Given the description of an element on the screen output the (x, y) to click on. 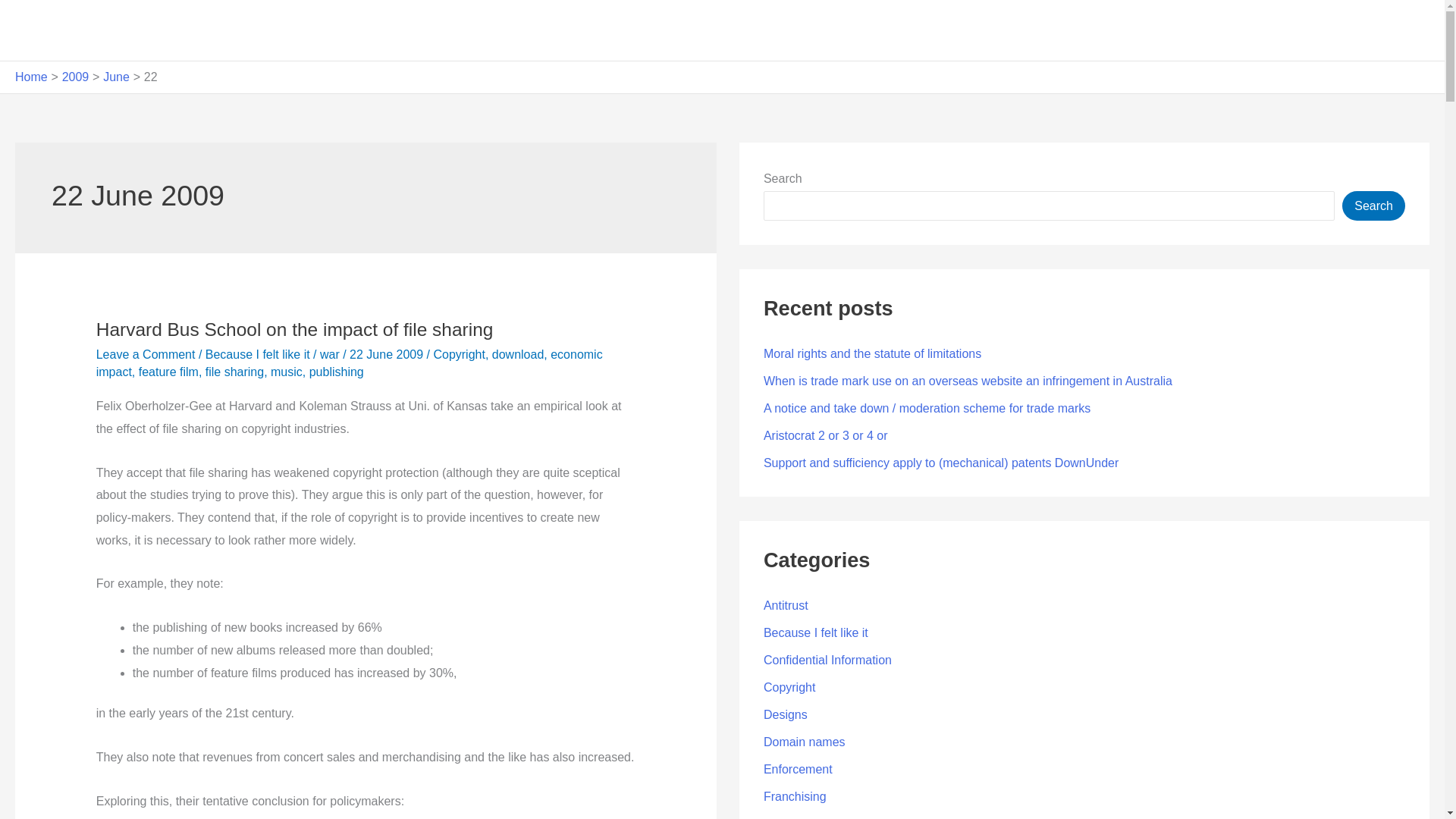
Search (1373, 205)
economic impact (349, 363)
Home (31, 76)
Leave a Comment (145, 354)
2009 (75, 76)
publishing (336, 371)
June (116, 76)
file sharing (234, 371)
feature film (168, 371)
download (518, 354)
View all posts by war (331, 354)
war (331, 354)
Copyright (458, 354)
Because I felt like it (257, 354)
music (286, 371)
